Given the description of an element on the screen output the (x, y) to click on. 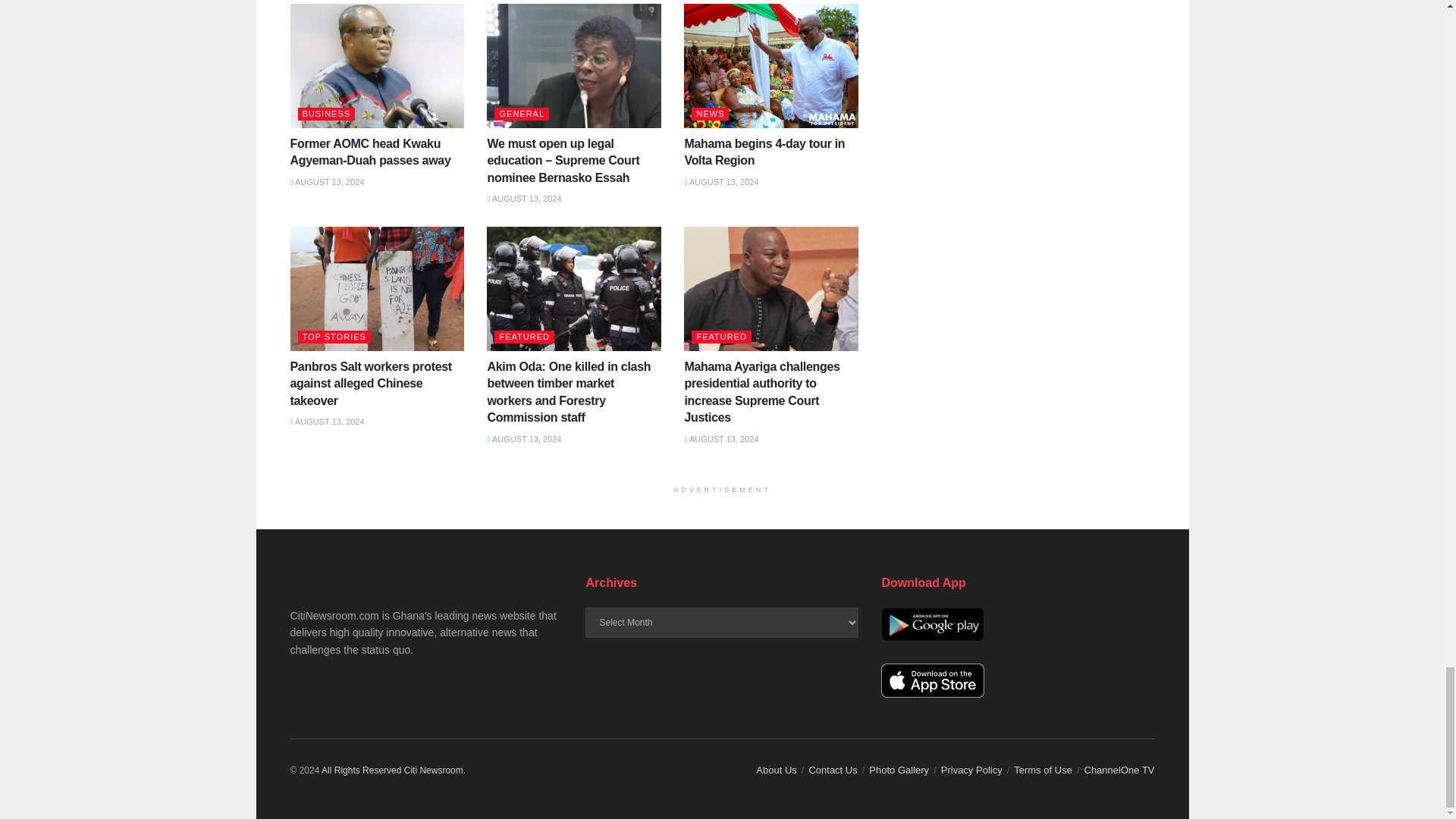
Google Play (932, 624)
Citi Newsroom (433, 769)
App Store (932, 680)
Citi Newsroom (361, 769)
